Given the description of an element on the screen output the (x, y) to click on. 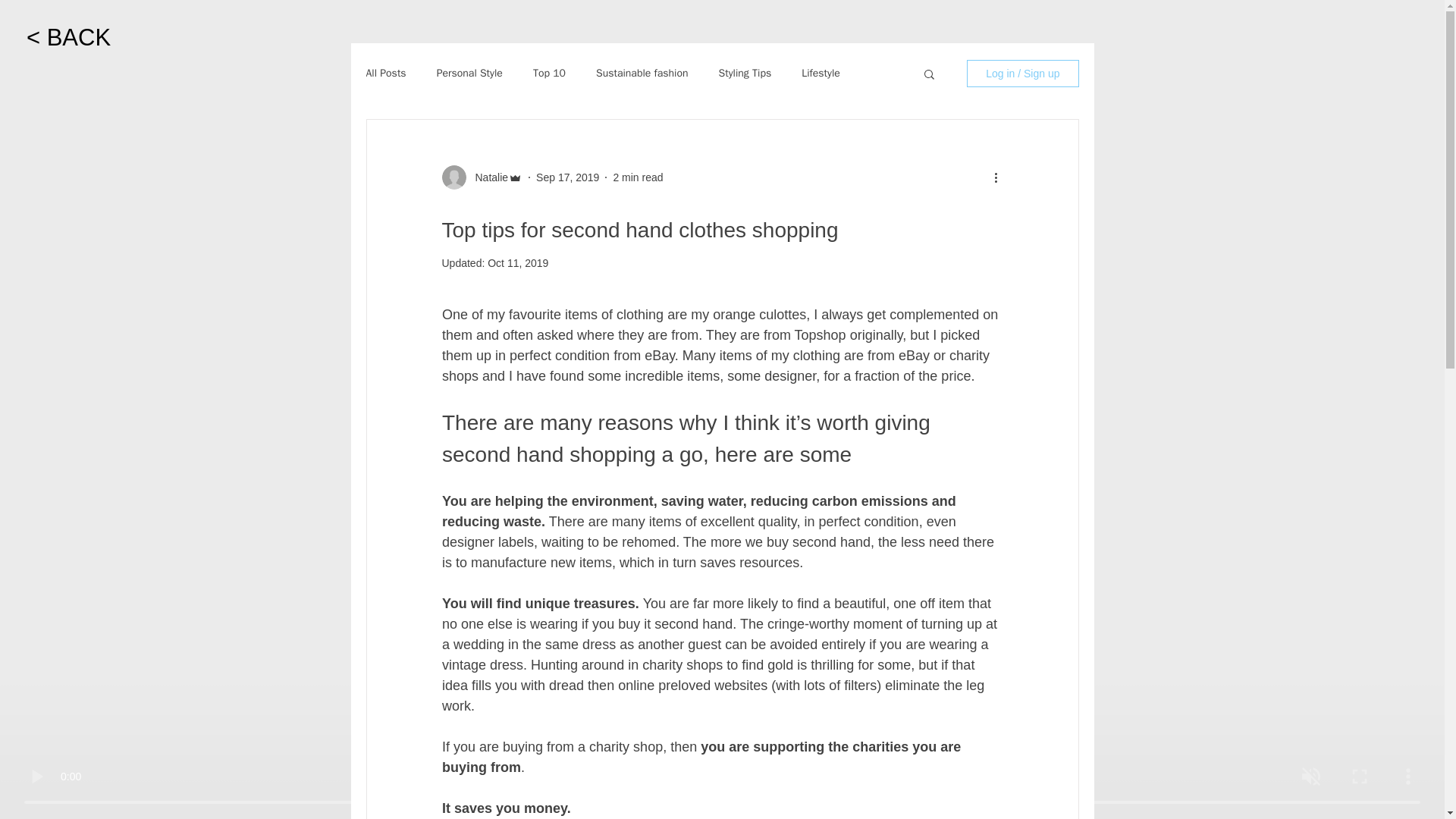
Top 10 (549, 73)
Oct 11, 2019 (517, 263)
Personal Style (469, 73)
Lifestyle (821, 73)
Sustainable fashion (641, 73)
Sep 17, 2019 (566, 177)
2 min read (637, 177)
All Posts (385, 73)
Natalie (486, 177)
Styling Tips (745, 73)
